Given the description of an element on the screen output the (x, y) to click on. 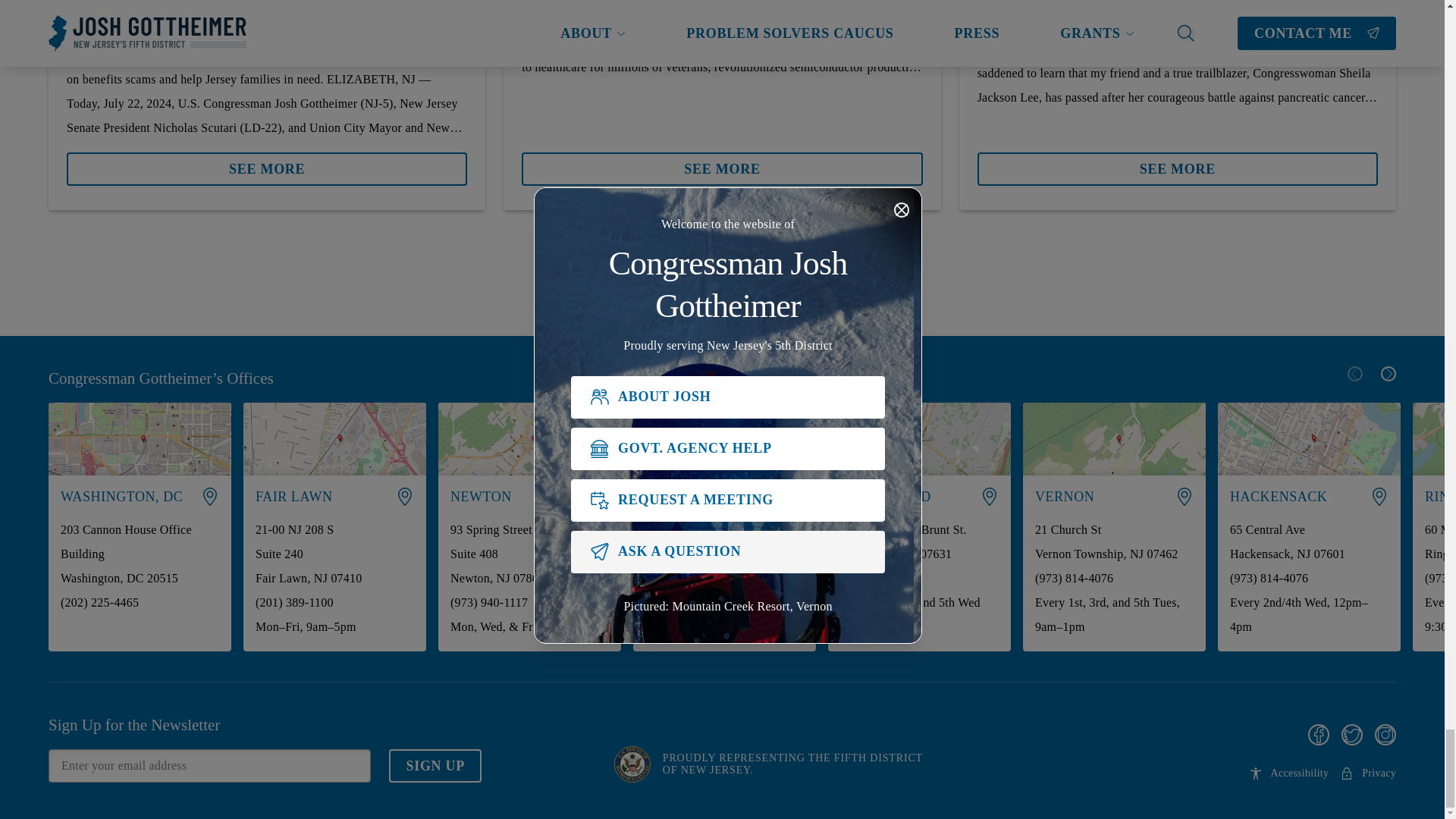
SEE MORE (266, 162)
